Given the description of an element on the screen output the (x, y) to click on. 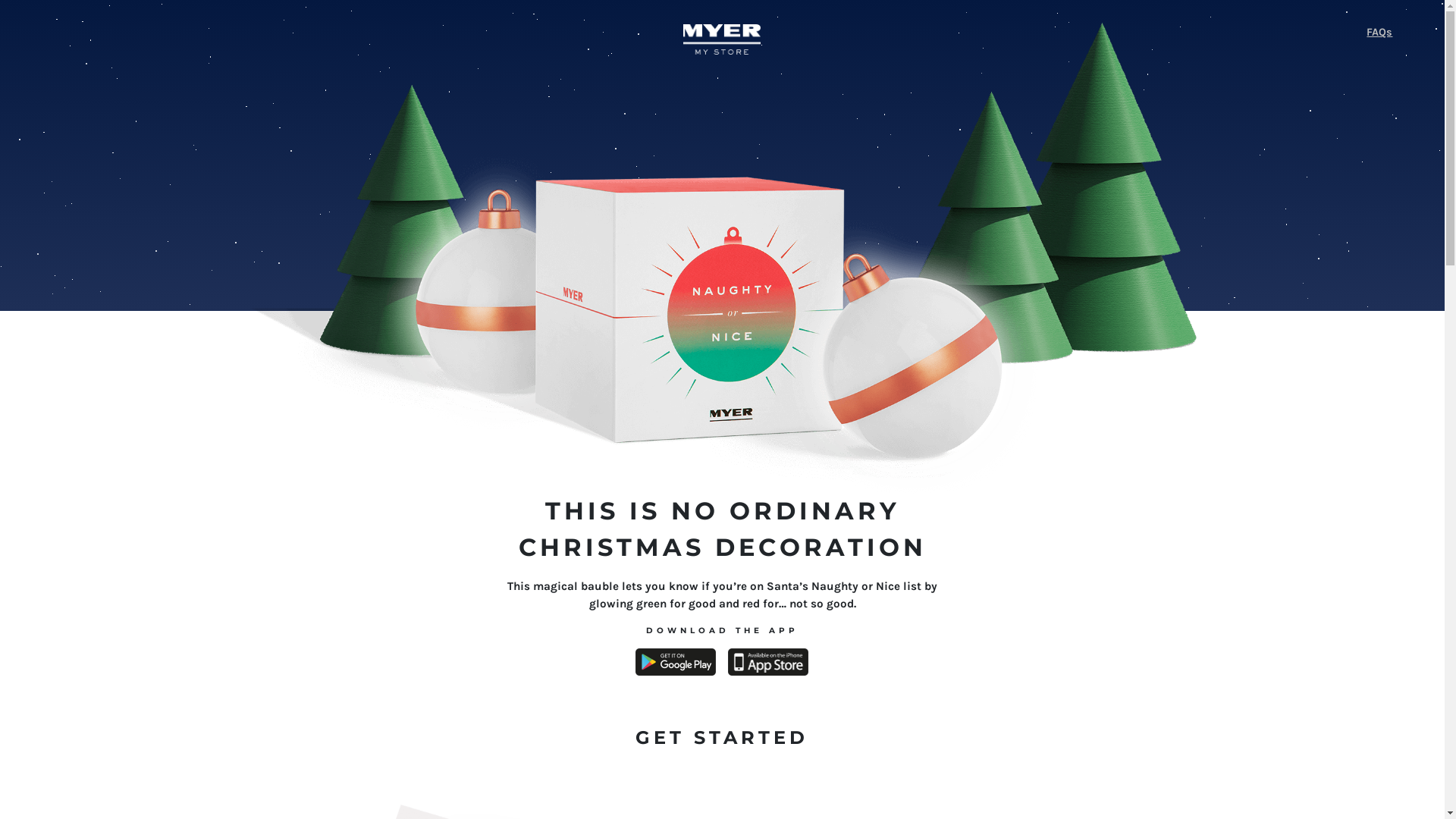
FAQs Element type: text (1176, 33)
